Given the description of an element on the screen output the (x, y) to click on. 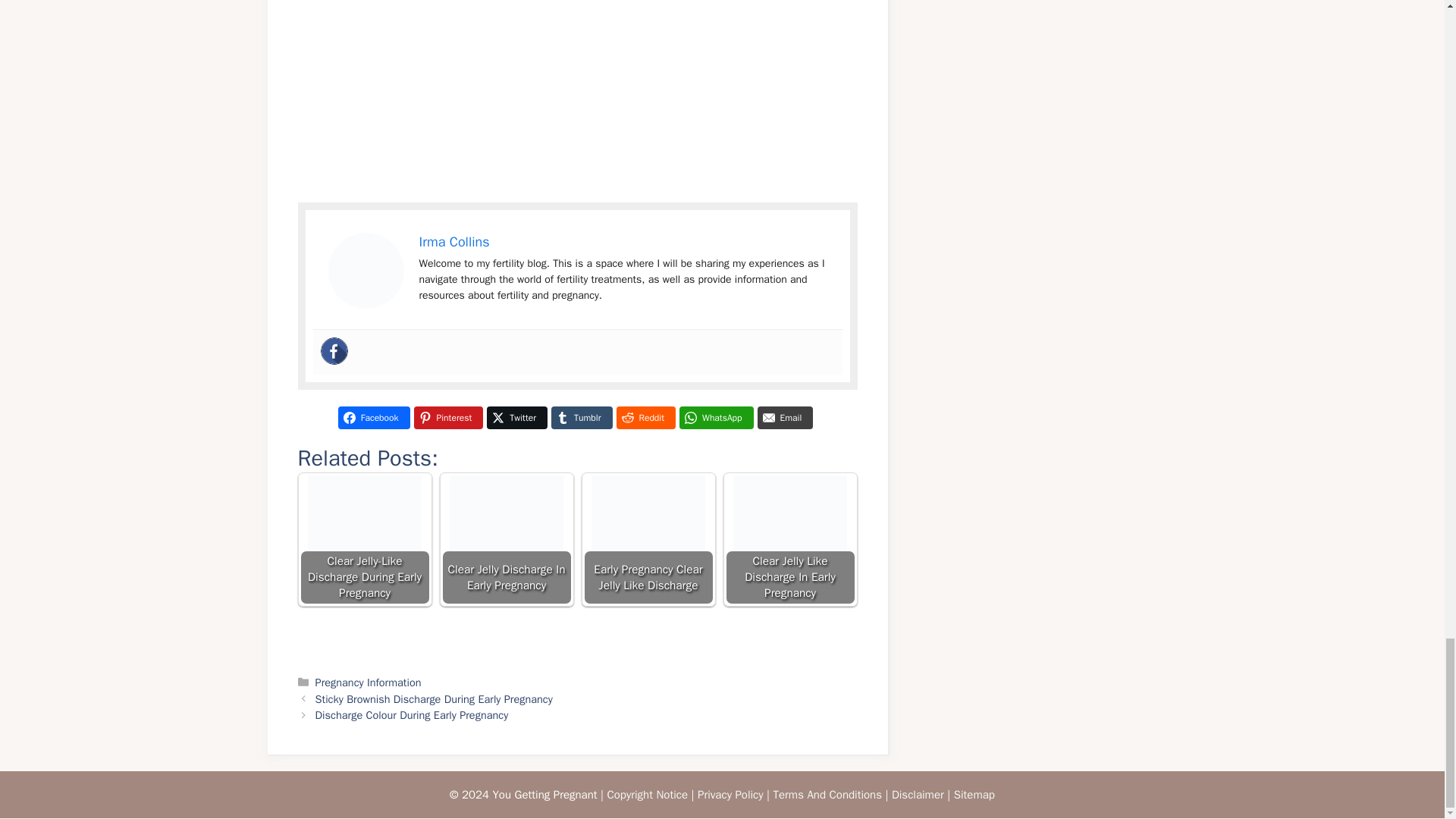
Share on Facebook (373, 417)
Share on Tumblr (581, 417)
Email (785, 417)
Clear Jelly-Like Discharge During Early Pregnancy (364, 539)
Twitter (516, 417)
Reddit (645, 417)
Tumblr (581, 417)
Facebook (333, 350)
Facebook (373, 417)
Clear Jelly Discharge In Early Pregnancy (505, 539)
